Given the description of an element on the screen output the (x, y) to click on. 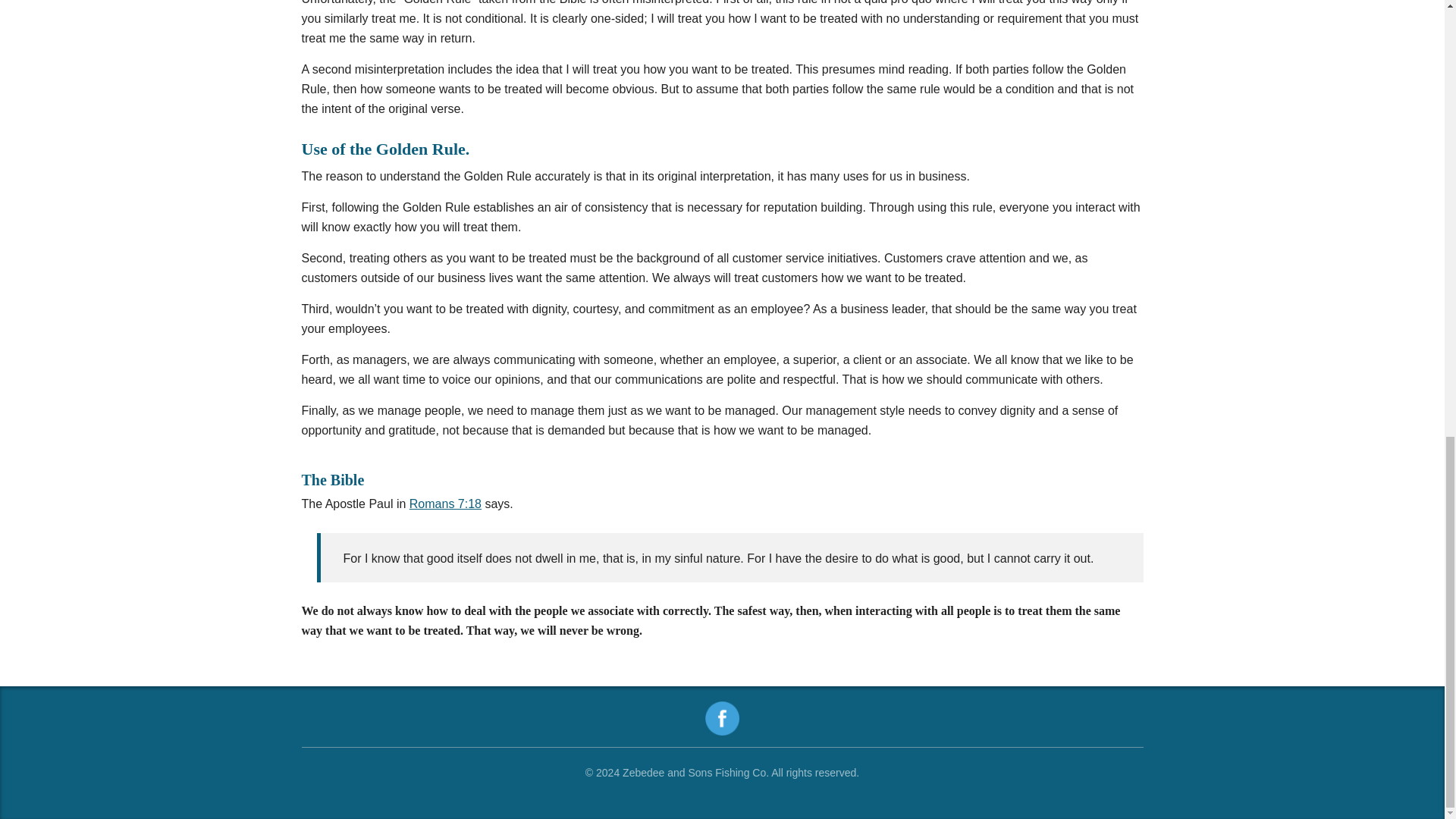
Romans 7:18 (445, 503)
